Given the description of an element on the screen output the (x, y) to click on. 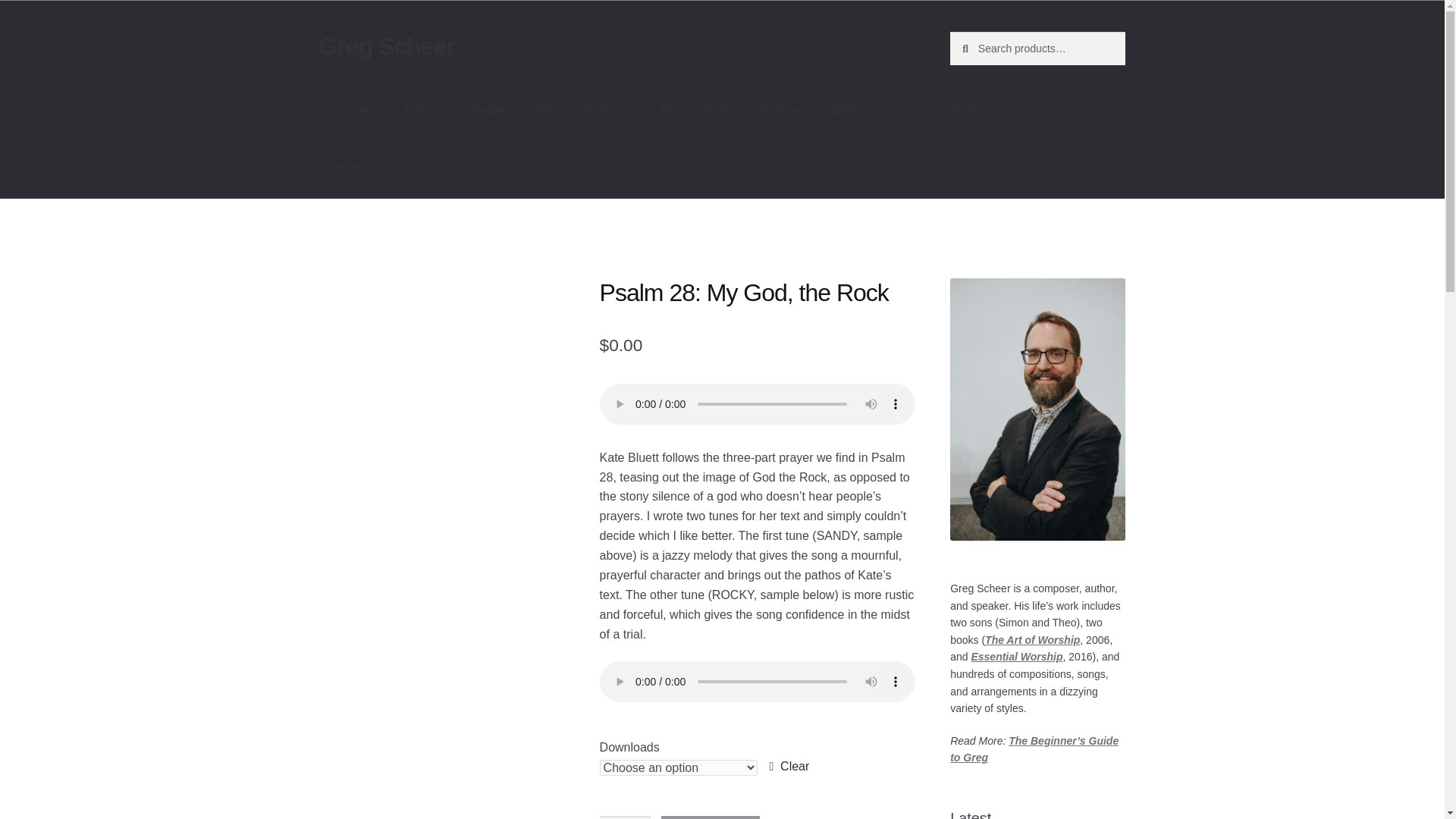
Music Catalog (584, 109)
1 (624, 817)
Greg Scheer (386, 45)
Author (419, 109)
Musical Diary (695, 109)
Clear (789, 766)
Contact (339, 168)
Composer (347, 109)
